Given the description of an element on the screen output the (x, y) to click on. 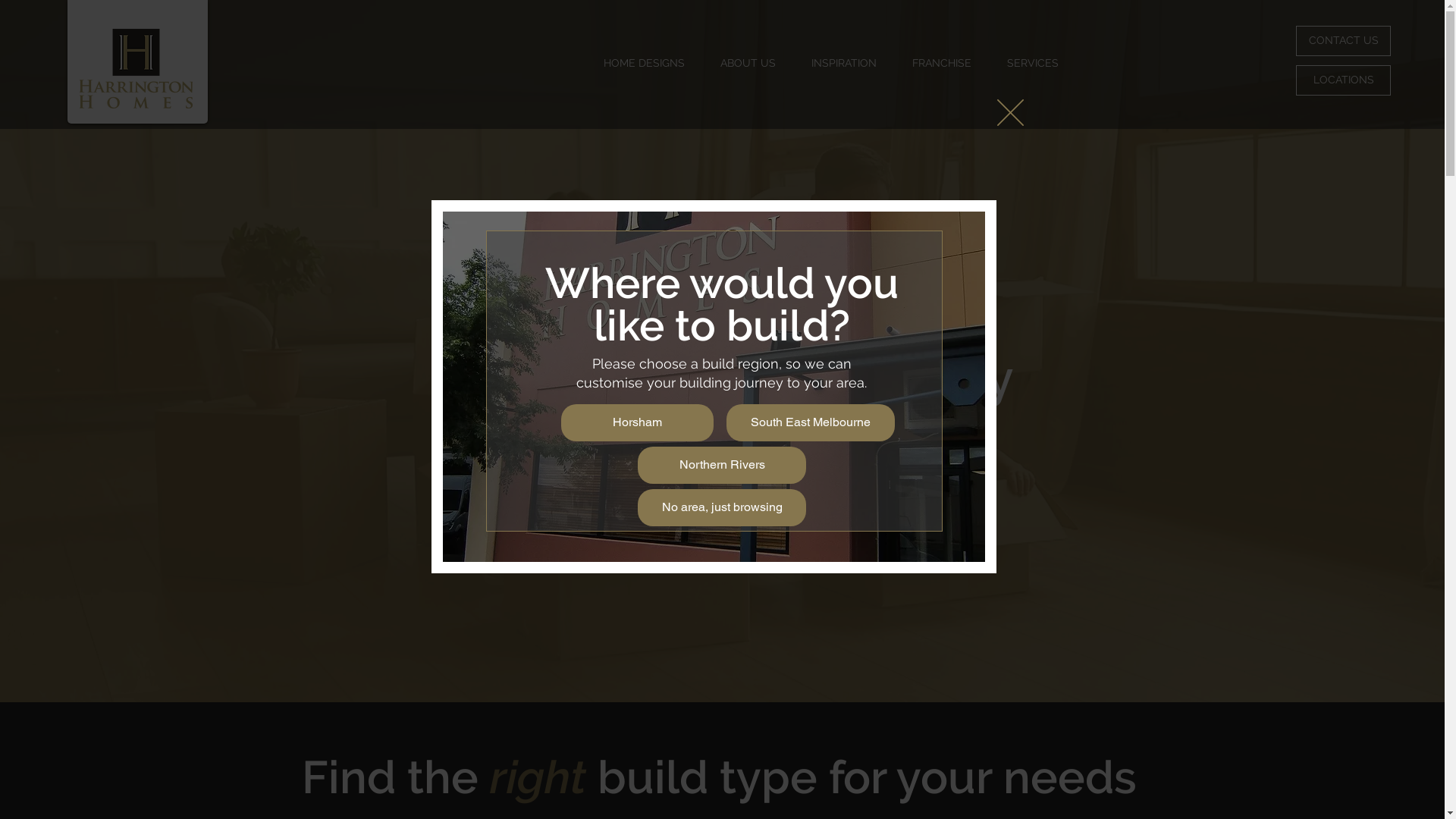
ABOUT US Element type: text (747, 62)
No area, just browsing Element type: text (721, 507)
LOCATIONS Element type: text (1342, 80)
CONTACT US Element type: text (1342, 40)
Back to site Element type: hover (1010, 111)
HOME DESIGNS Element type: text (643, 62)
FRANCHISE Element type: text (942, 62)
SERVICES Element type: text (1032, 62)
VIEW ALL HOMES Element type: text (726, 506)
INSPIRATION Element type: text (843, 62)
Northern Rivers Element type: text (721, 464)
Horsham Element type: text (637, 422)
South East Melbourne Element type: text (810, 422)
